Given the description of an element on the screen output the (x, y) to click on. 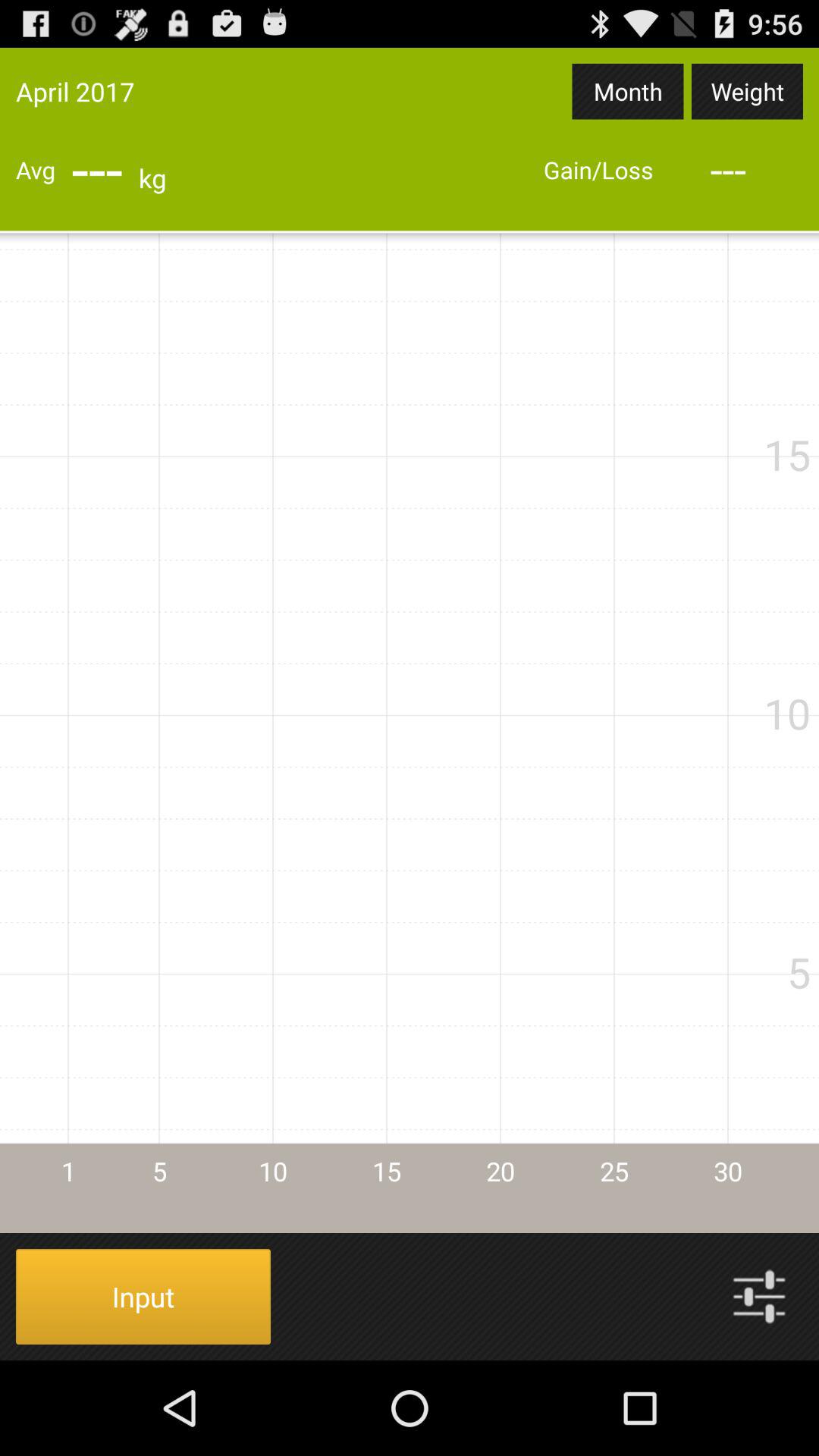
turn on the item to the right of month app (747, 91)
